Given the description of an element on the screen output the (x, y) to click on. 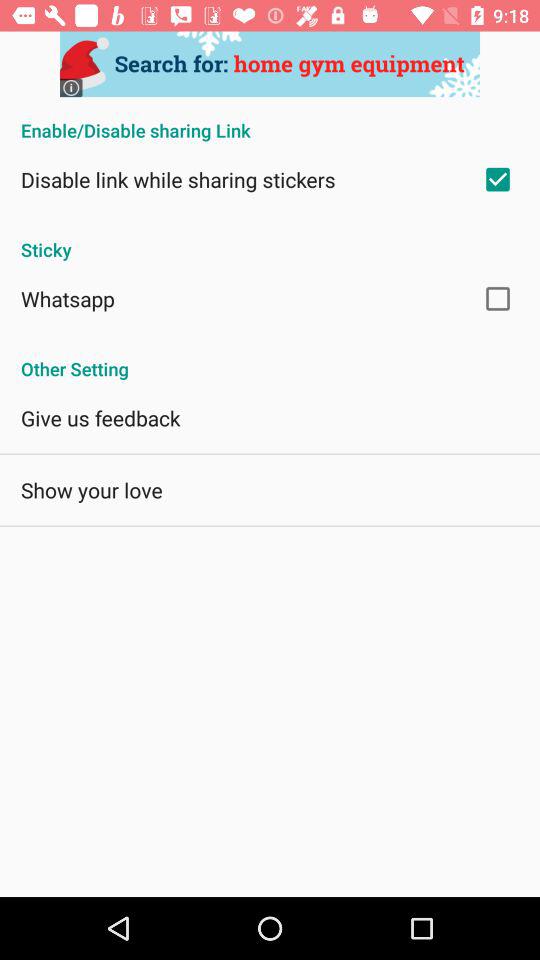
turn off whatsapp item (67, 298)
